Given the description of an element on the screen output the (x, y) to click on. 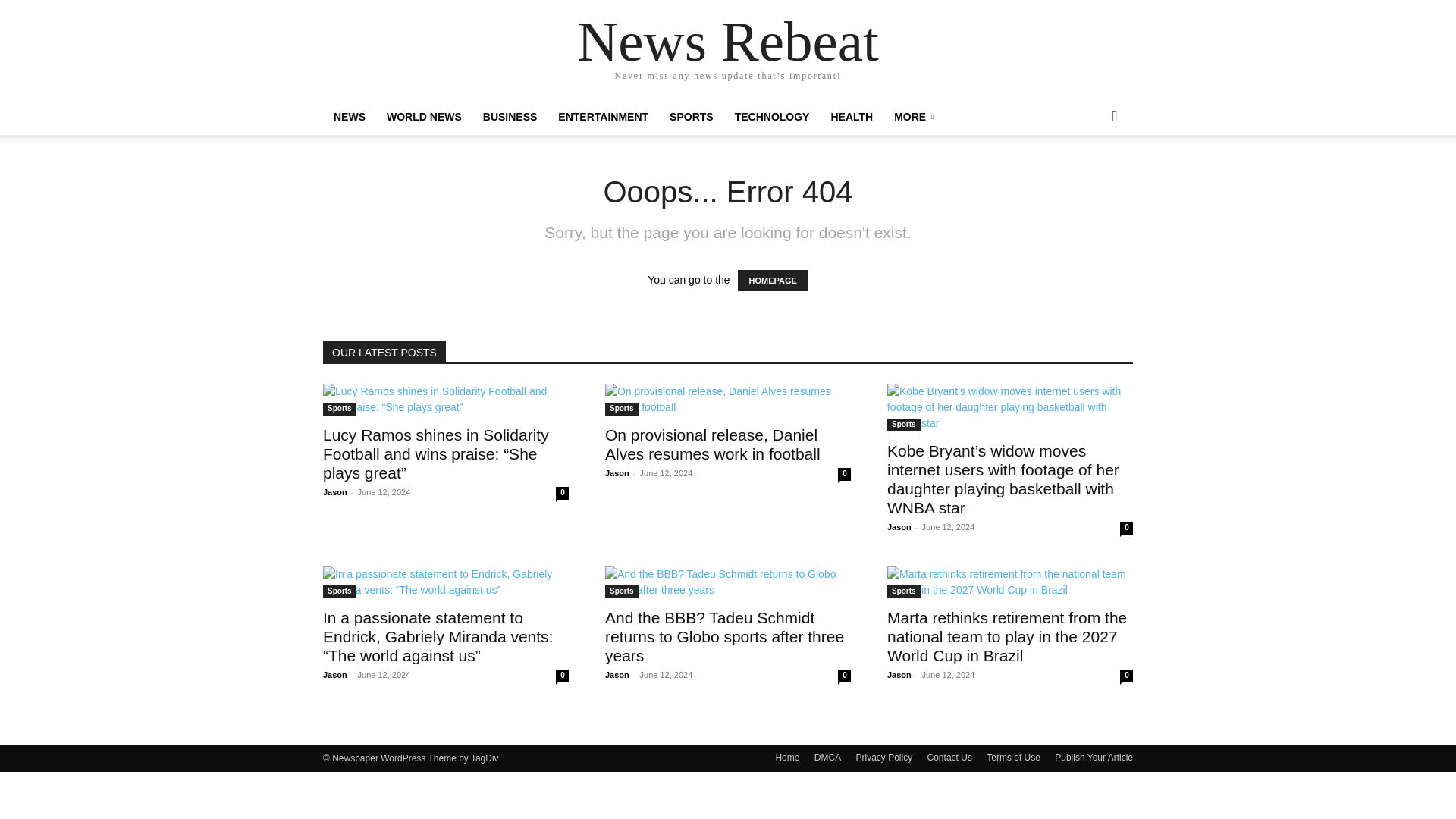
0 (562, 492)
Search (1091, 177)
TECHNOLOGY (772, 116)
HEALTH (851, 116)
WORLD NEWS (423, 116)
Sports (622, 408)
BUSINESS (509, 116)
ENTERTAINMENT (603, 116)
News Rebeat (727, 41)
Jason (616, 472)
